Given the description of an element on the screen output the (x, y) to click on. 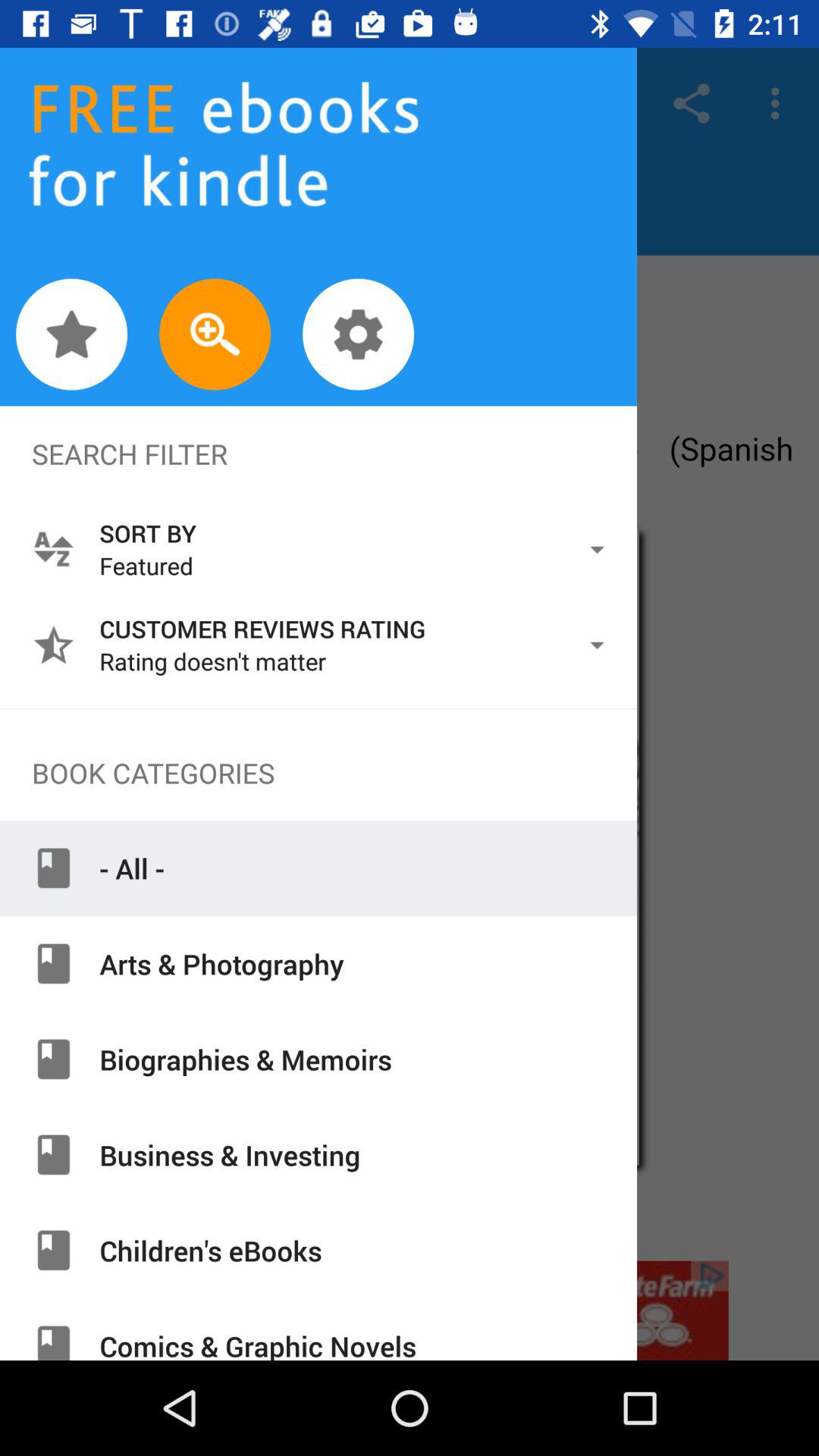
main navigation menu (409, 757)
